Given the description of an element on the screen output the (x, y) to click on. 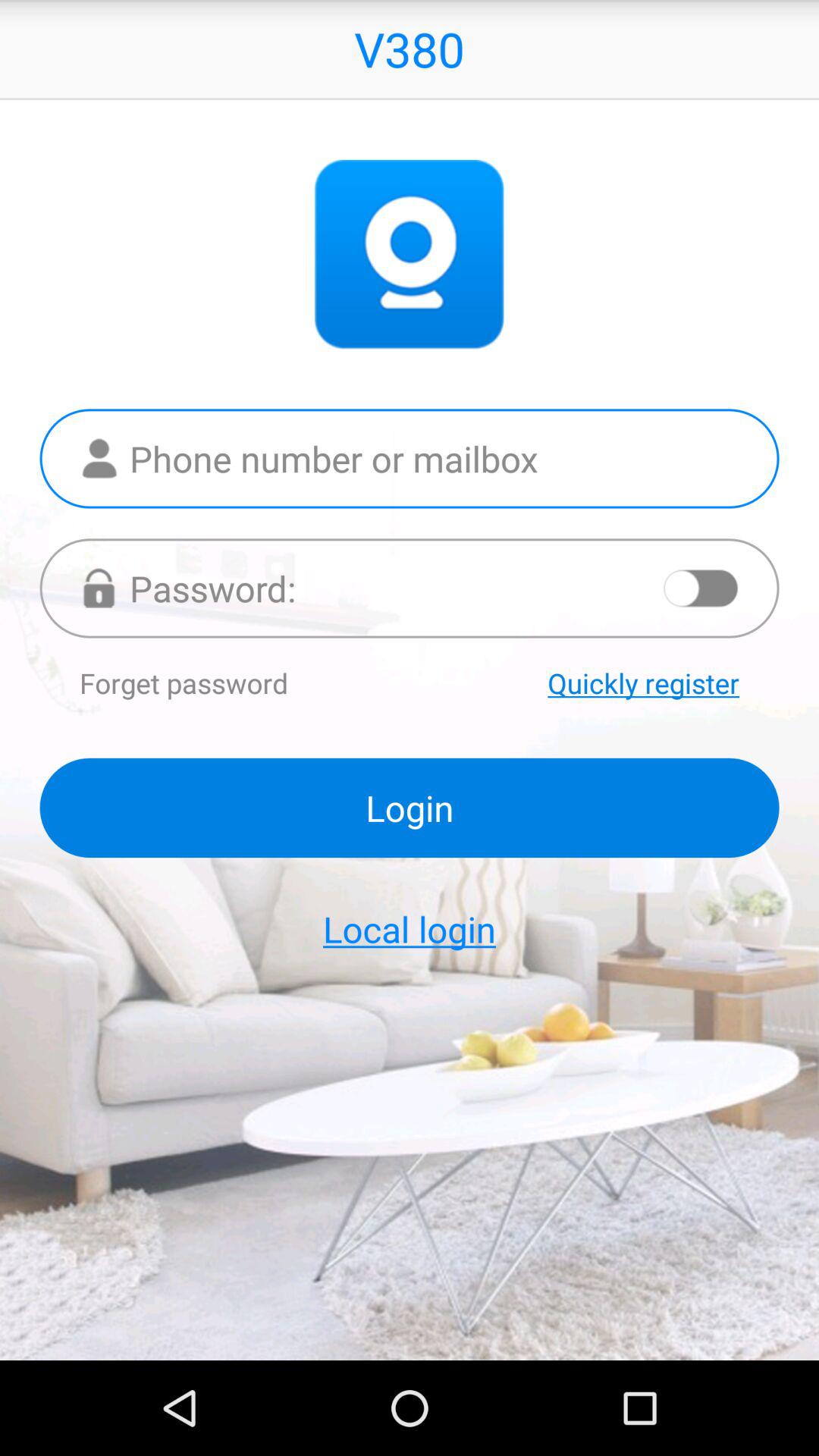
insert phone number or email (409, 458)
